Given the description of an element on the screen output the (x, y) to click on. 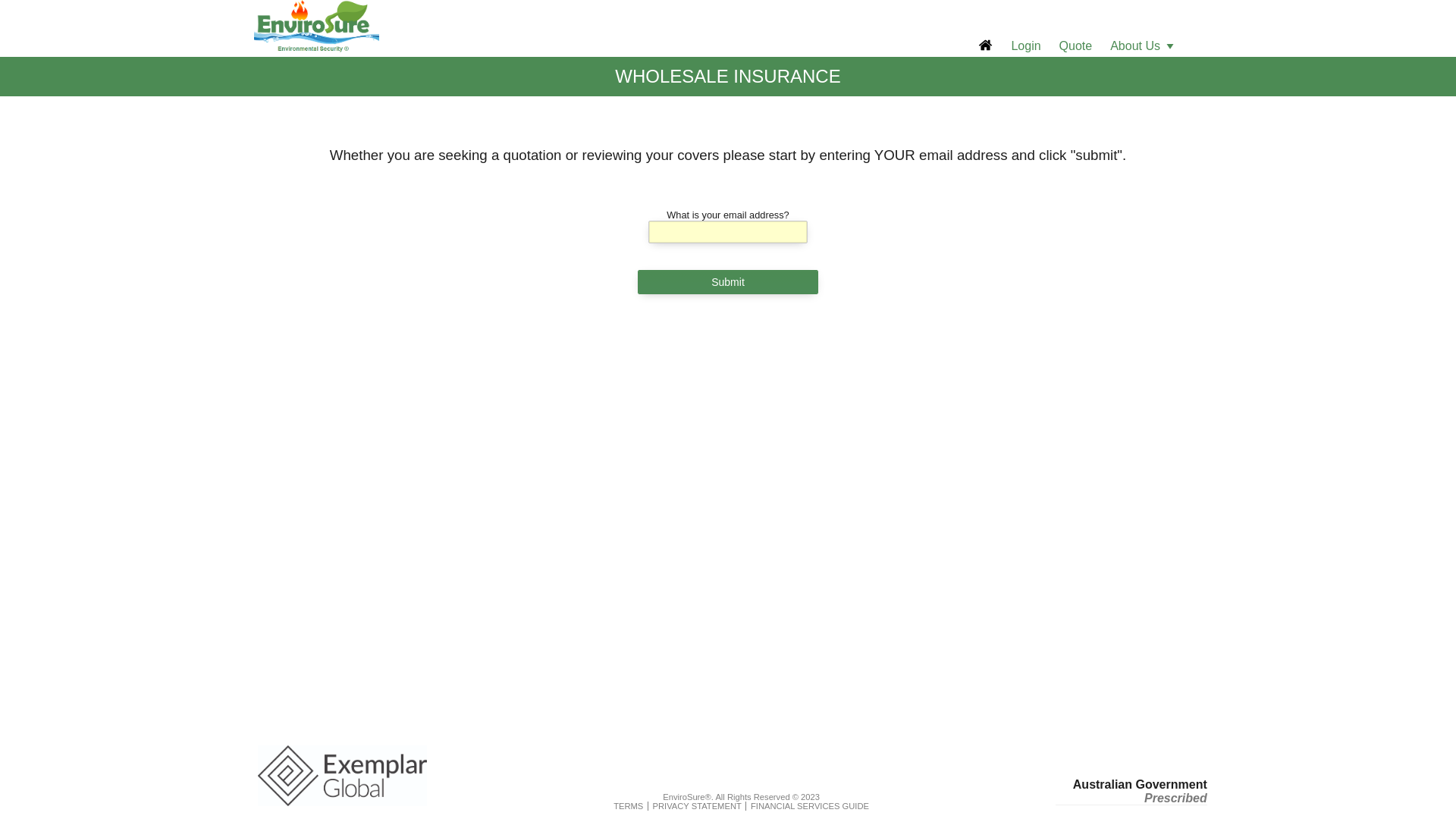
Quote Element type: text (1075, 45)
PRIVACY STATEMENT Element type: text (696, 805)
FINANCIAL SERVICES GUIDE Element type: text (809, 805)
TERMS Element type: text (628, 805)
Login Element type: text (1025, 45)
Submit Element type: text (727, 281)
